Given the description of an element on the screen output the (x, y) to click on. 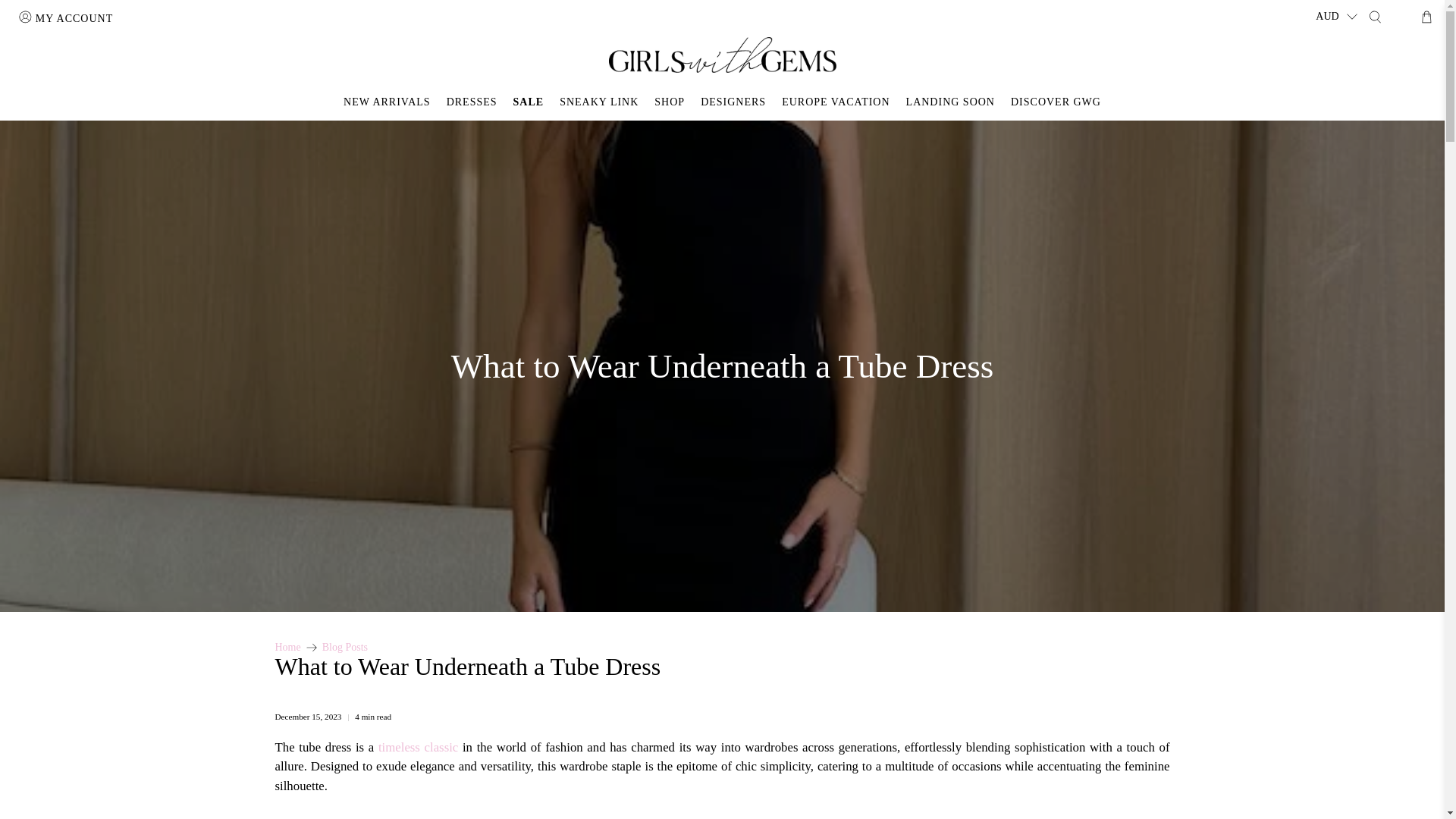
SNEAKY LINK (598, 101)
DESIGNERS (733, 101)
EUR (1335, 177)
Girls With Gems (287, 646)
MY ACCOUNT (60, 18)
LANDING SOON (950, 101)
JPY (1335, 205)
DRESSES (471, 101)
EUROPE VACATION (836, 101)
NEW ARRIVALS (387, 101)
GBP (1335, 150)
CAD (1335, 95)
USD (1335, 68)
SALE (528, 101)
SHOP (669, 101)
